Given the description of an element on the screen output the (x, y) to click on. 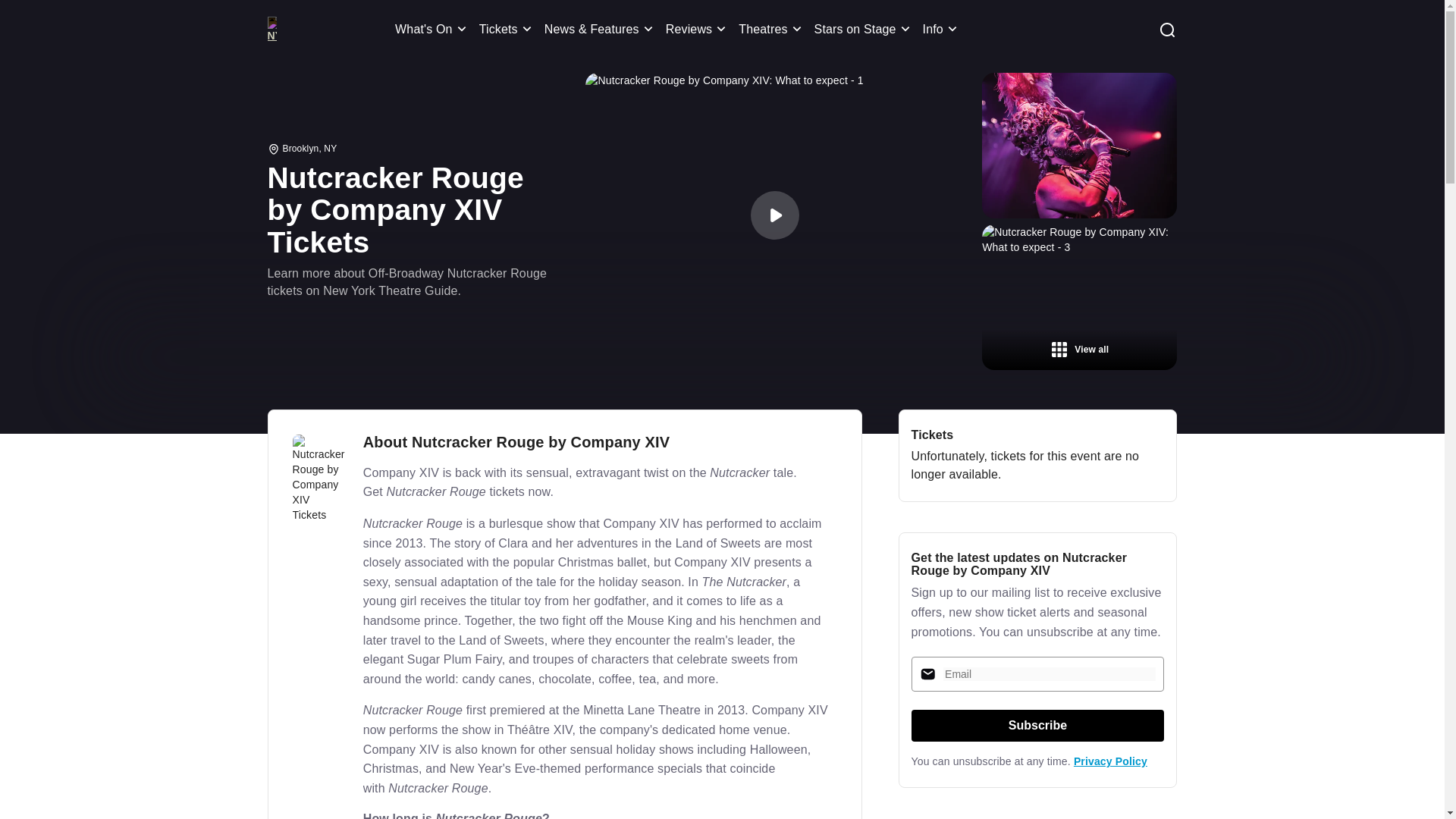
Reviews (698, 28)
Tickets (508, 28)
Theatres (772, 28)
What's On (432, 28)
